Given the description of an element on the screen output the (x, y) to click on. 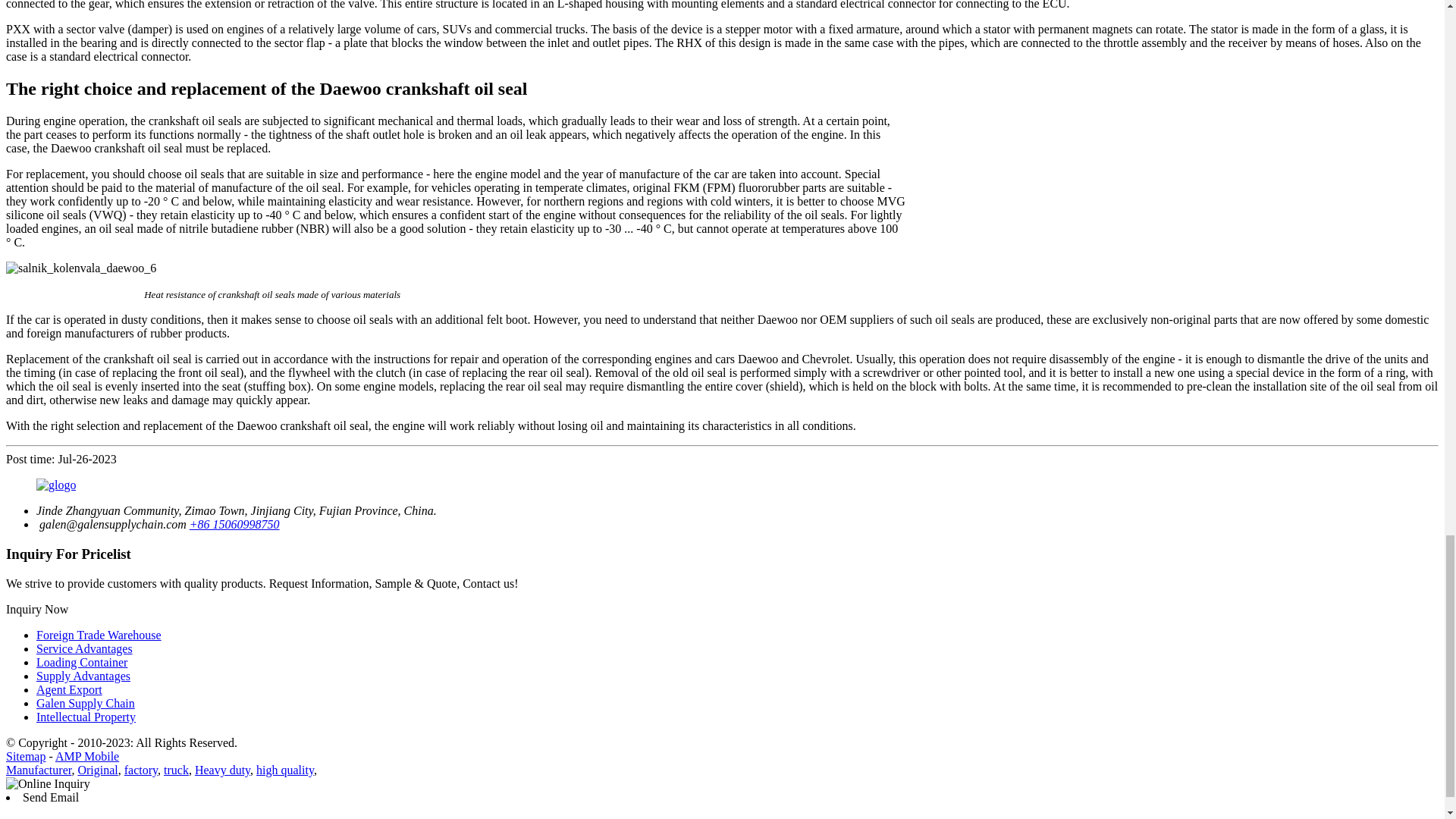
Heavy duty (222, 769)
Send Email (50, 797)
high quality (285, 769)
truck (176, 769)
Agent Export (68, 689)
Service Advantages (84, 648)
Supply Advantages (83, 675)
Loading Container (82, 662)
Original (97, 769)
truck (176, 769)
